Given the description of an element on the screen output the (x, y) to click on. 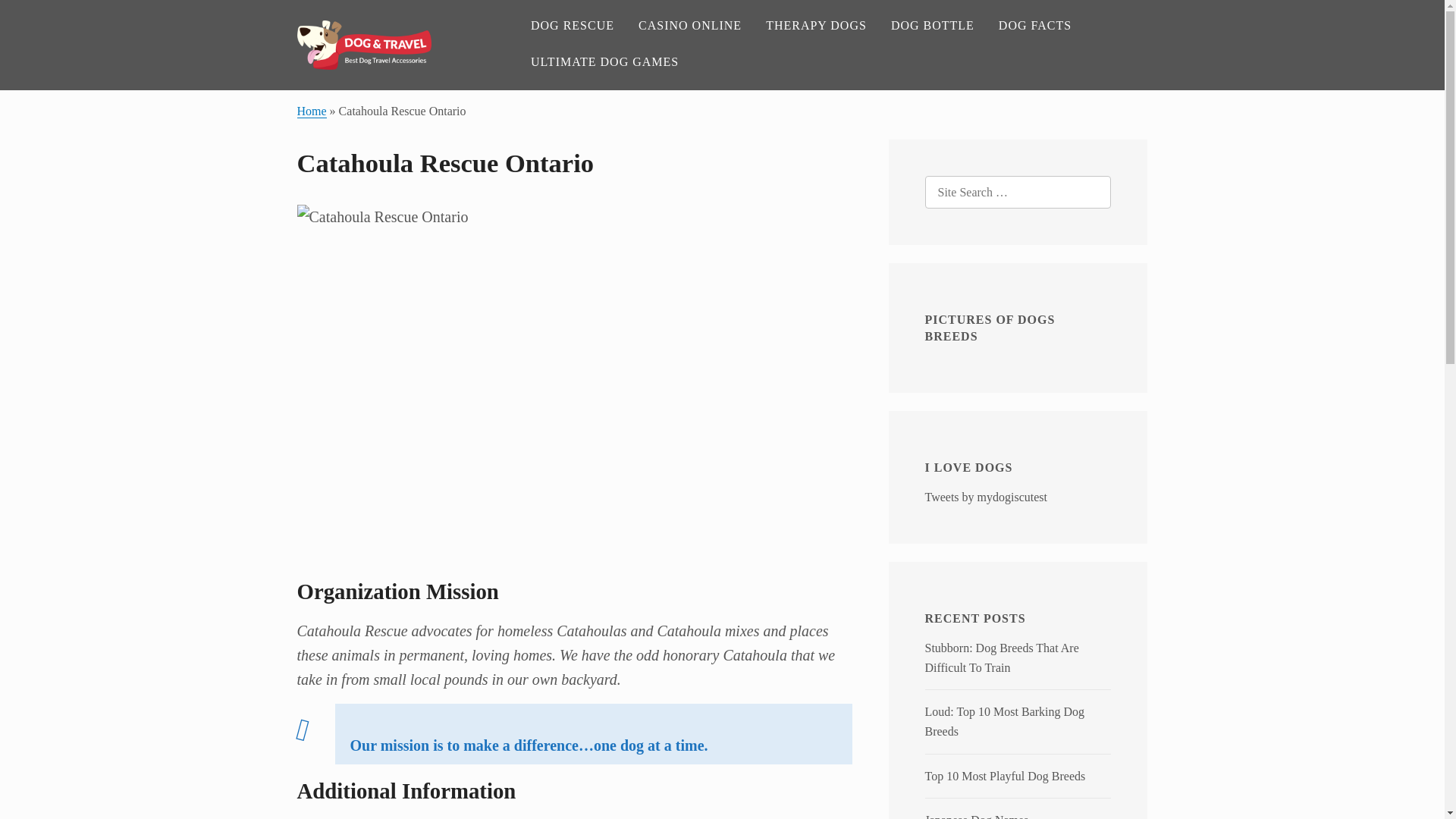
CASINO ONLINE (690, 25)
Search (42, 18)
Tweets by mydogiscutest (986, 496)
Loud: Top 10 Most Barking Dog Breeds (1004, 721)
Japanese Dog Names (976, 816)
DOG RESCUE (572, 25)
DOG FACTS (1035, 25)
ULTIMATE DOG GAMES (604, 62)
THERAPY DOGS (816, 25)
Home (311, 110)
DOG BOTTLE (933, 25)
Top 10 Most Playful Dog Breeds (1005, 775)
Stubborn: Dog Breeds That Are Difficult To Train (1001, 657)
